Given the description of an element on the screen output the (x, y) to click on. 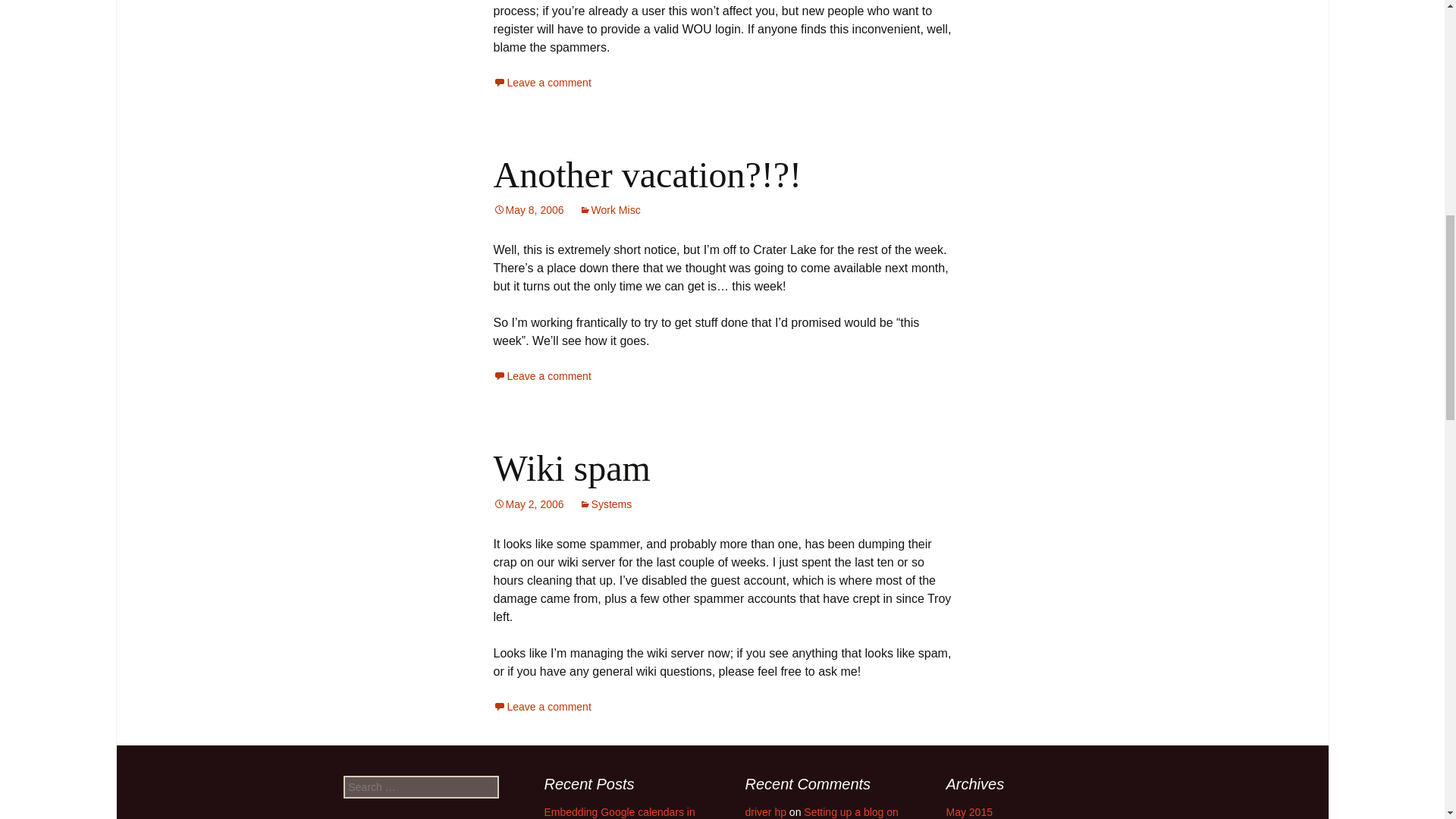
May 2, 2006 (528, 503)
Leave a comment (542, 706)
Embedding Google calendars in WOU WordPress pages (619, 812)
Work Misc (609, 209)
Another vacation?!?! (646, 174)
Systems (605, 503)
May 8, 2006 (528, 209)
Permalink to Wiki spam (528, 503)
Leave a comment (542, 82)
Leave a comment (542, 376)
Wiki spam (571, 467)
Permalink to Another vacation?!?! (528, 209)
driver hp (765, 811)
